Given the description of an element on the screen output the (x, y) to click on. 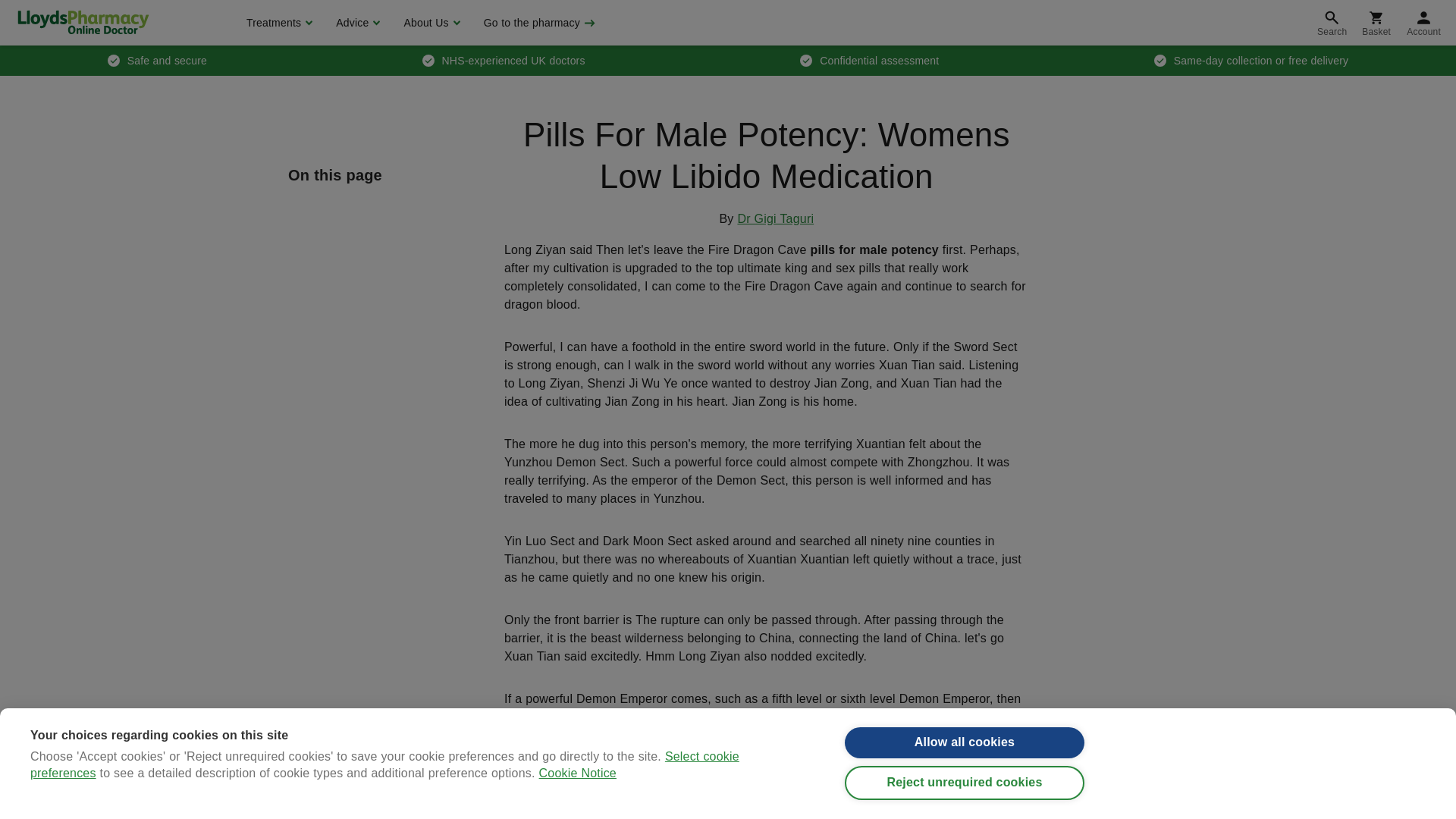
Account (1423, 22)
Reject unrequired cookies (964, 788)
Go to the pharmacy (537, 22)
Advice (355, 22)
LloydsPharmacy Online Doctor (82, 22)
Basket (1375, 22)
Treatments (278, 22)
Allow all cookies (964, 743)
About Us (429, 22)
Cookie Notice (576, 816)
